Given the description of an element on the screen output the (x, y) to click on. 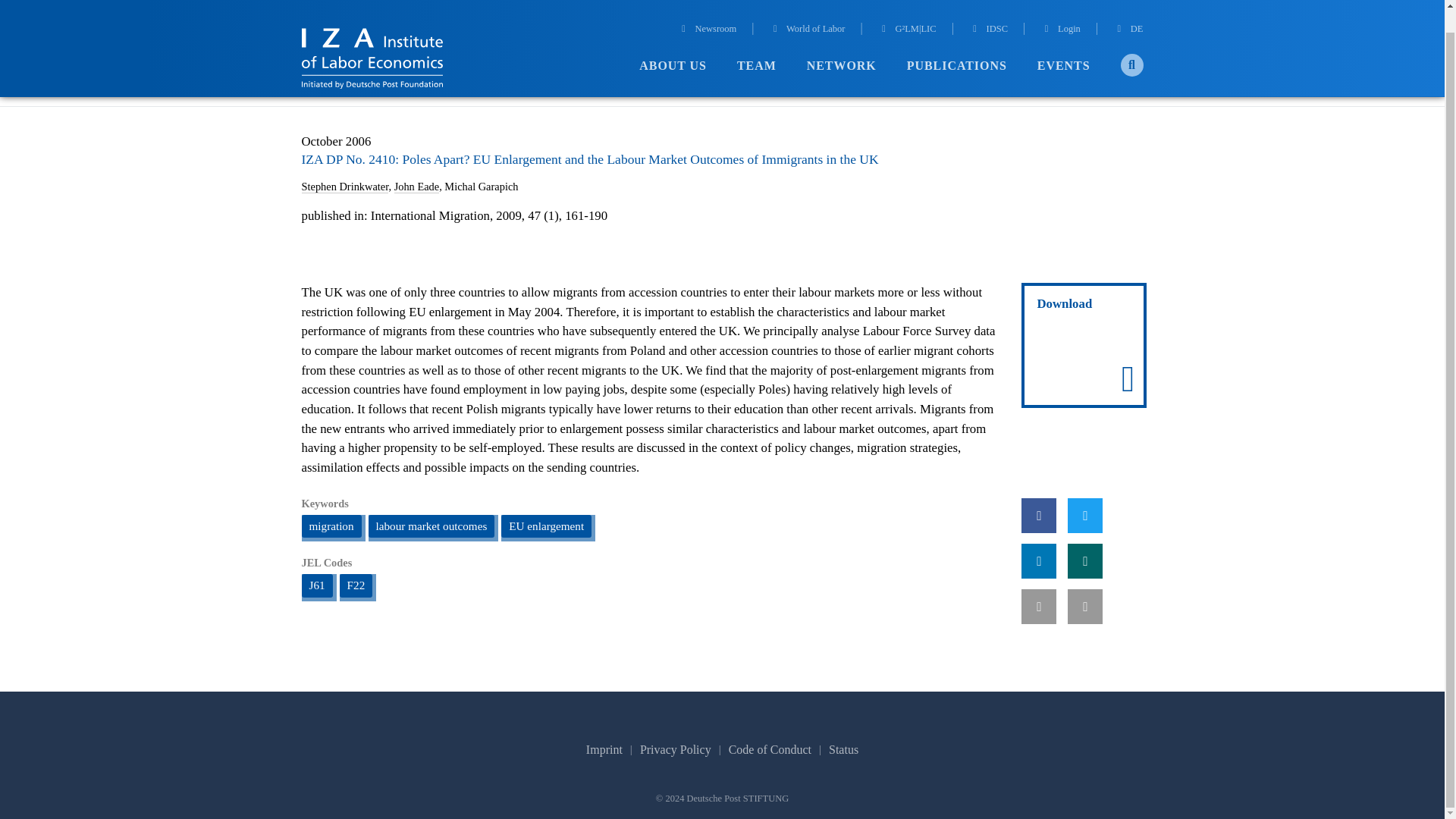
ABOUT US (672, 43)
World of Labor (807, 7)
IDSC (988, 7)
PUBLICATIONS (957, 43)
TEAM (756, 43)
Login (1060, 7)
EVENTS (1063, 43)
NETWORK (841, 43)
DE (1127, 7)
Newsroom (707, 7)
